Given the description of an element on the screen output the (x, y) to click on. 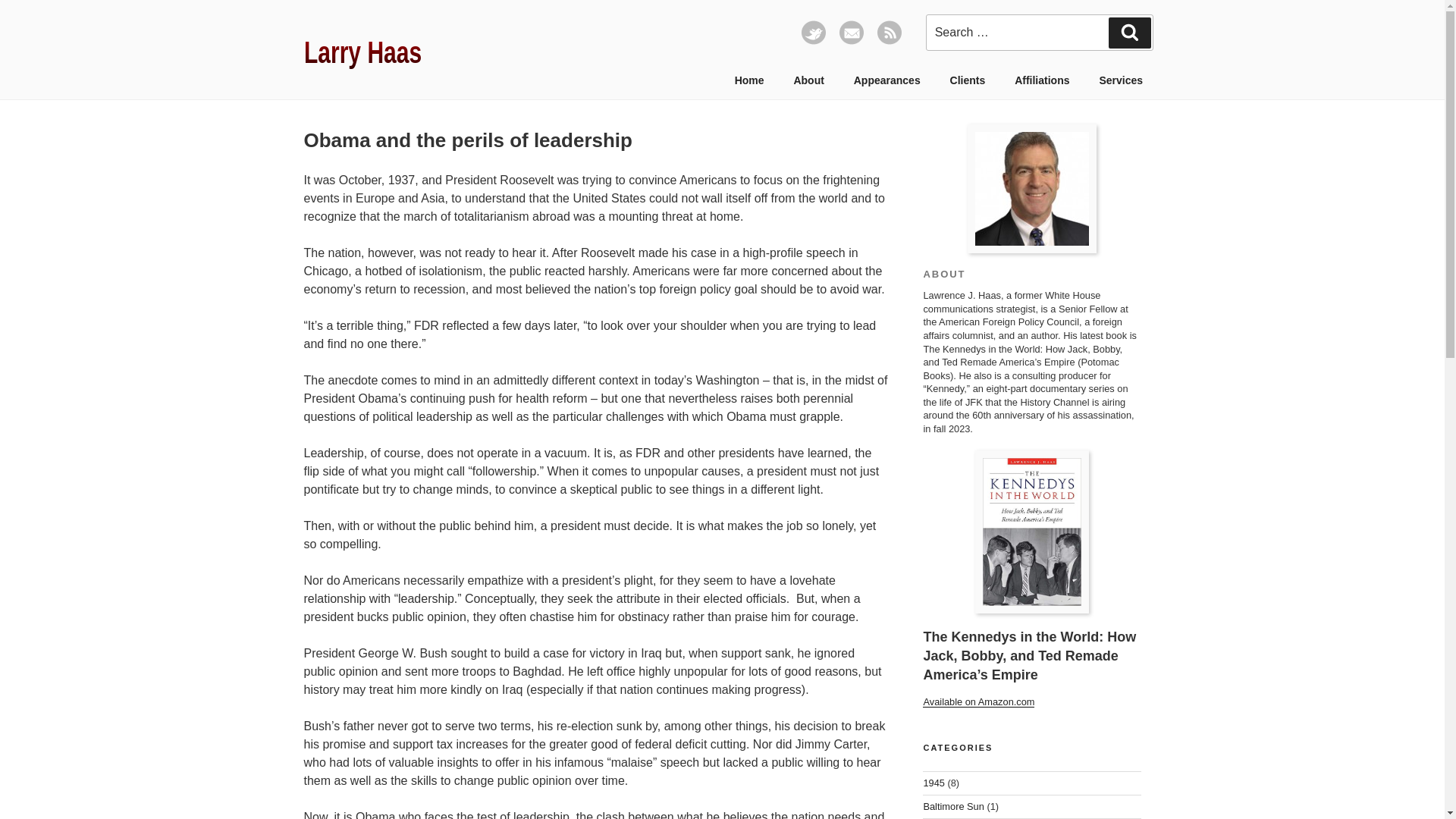
Clients (967, 80)
RSS (889, 40)
Affiliations (1042, 80)
Larry Haas (381, 52)
Services (1121, 80)
Twitter (813, 40)
1945 (933, 782)
Available on Amazon.com (978, 701)
E-mail (851, 40)
Search (1129, 32)
Larry Haas (1032, 188)
Baltimore Sun (953, 806)
Appearances (886, 80)
Home (748, 80)
About (808, 80)
